Given the description of an element on the screen output the (x, y) to click on. 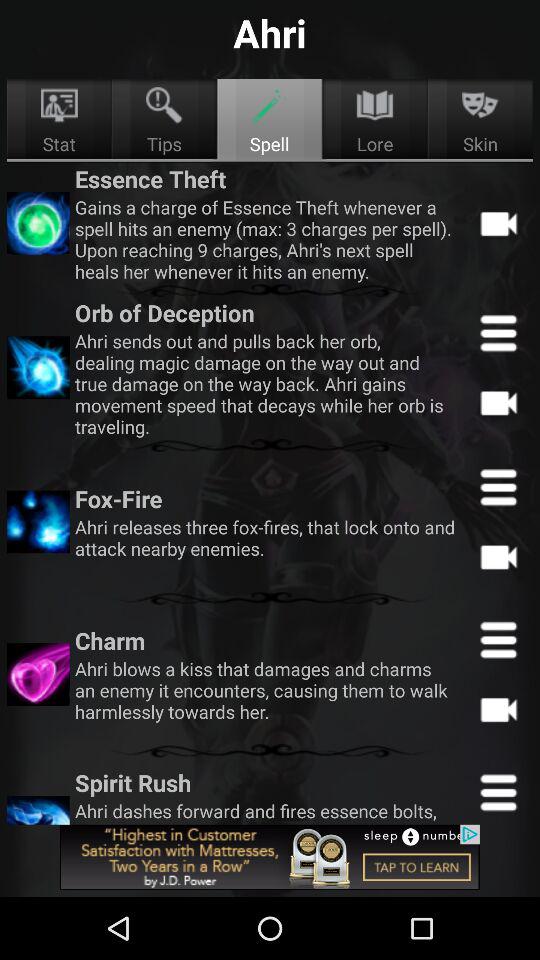
menu (498, 332)
